Given the description of an element on the screen output the (x, y) to click on. 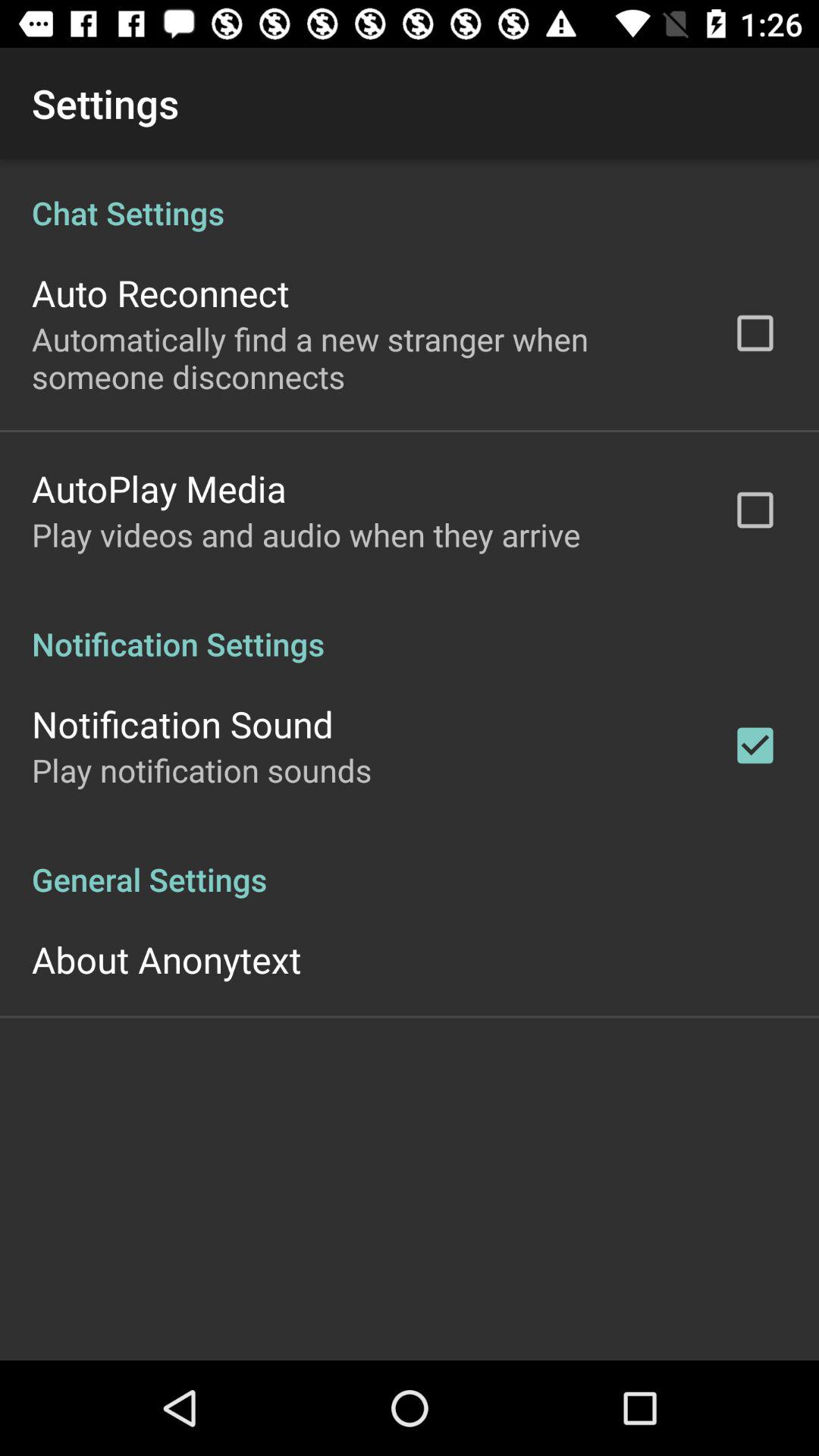
click item below the settings icon (409, 196)
